Given the description of an element on the screen output the (x, y) to click on. 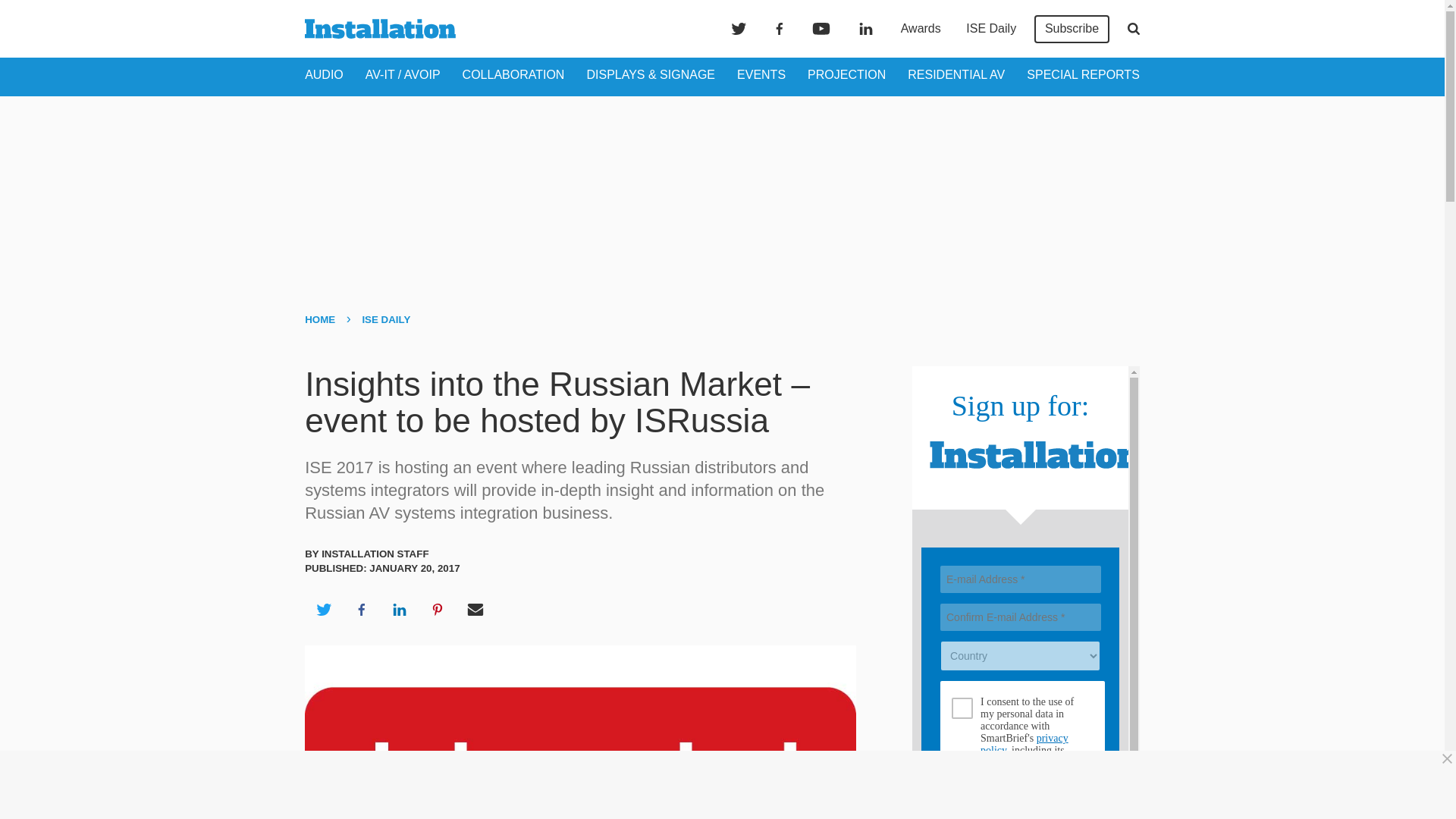
Share on LinkedIn (399, 609)
Awards (921, 29)
Subscribe (1071, 29)
Share on Pinterest (438, 609)
COLLABORATION (513, 74)
ISE Daily (990, 29)
Share on Facebook (361, 609)
Installation Staff's Author Profile (374, 553)
Share on Twitter (323, 609)
Share via Email (476, 609)
AUDIO (323, 74)
